Given the description of an element on the screen output the (x, y) to click on. 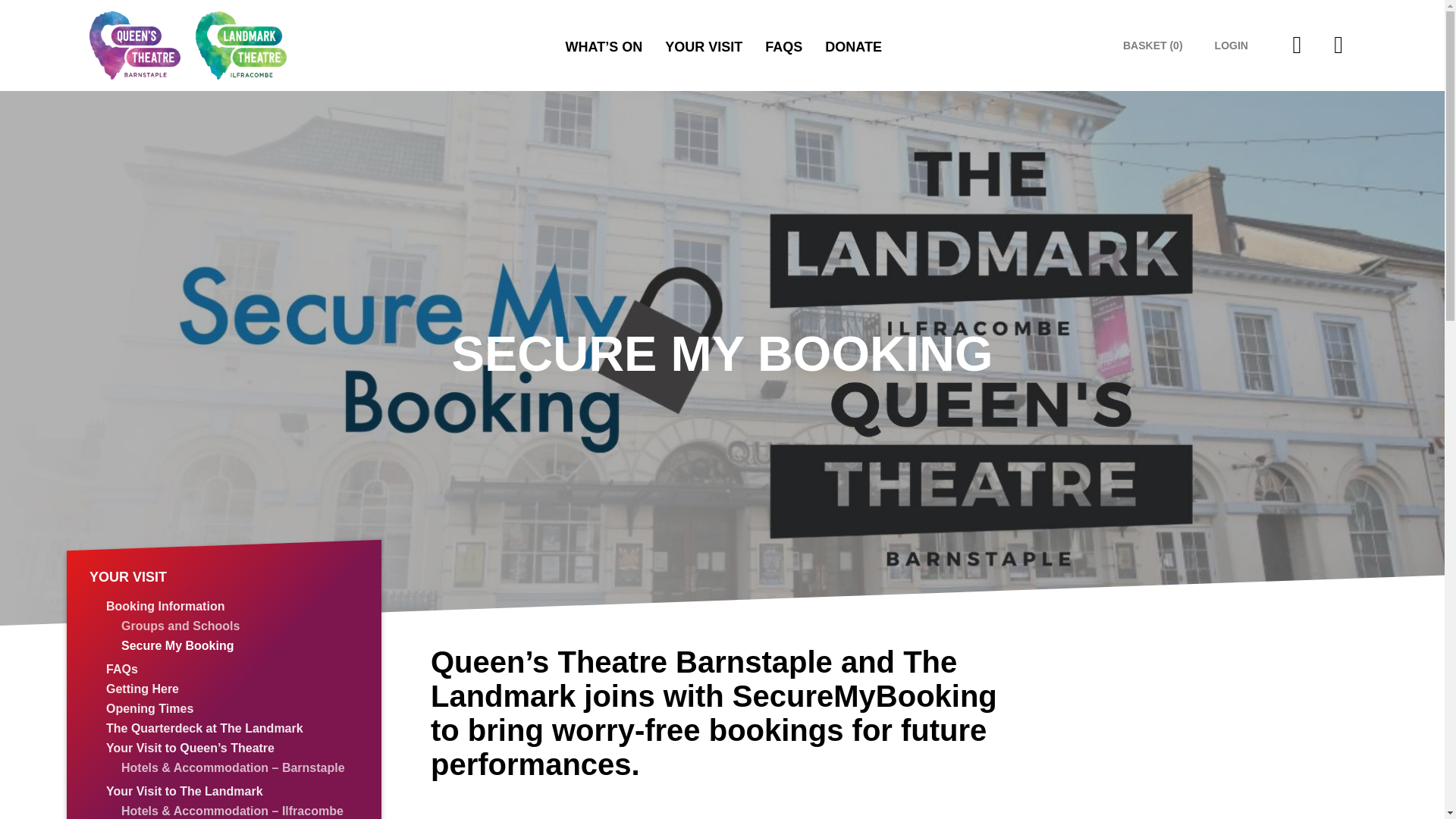
YOUR VISIT (703, 46)
LOGIN (1230, 44)
FAQS (783, 46)
DONATE (853, 46)
